Given the description of an element on the screen output the (x, y) to click on. 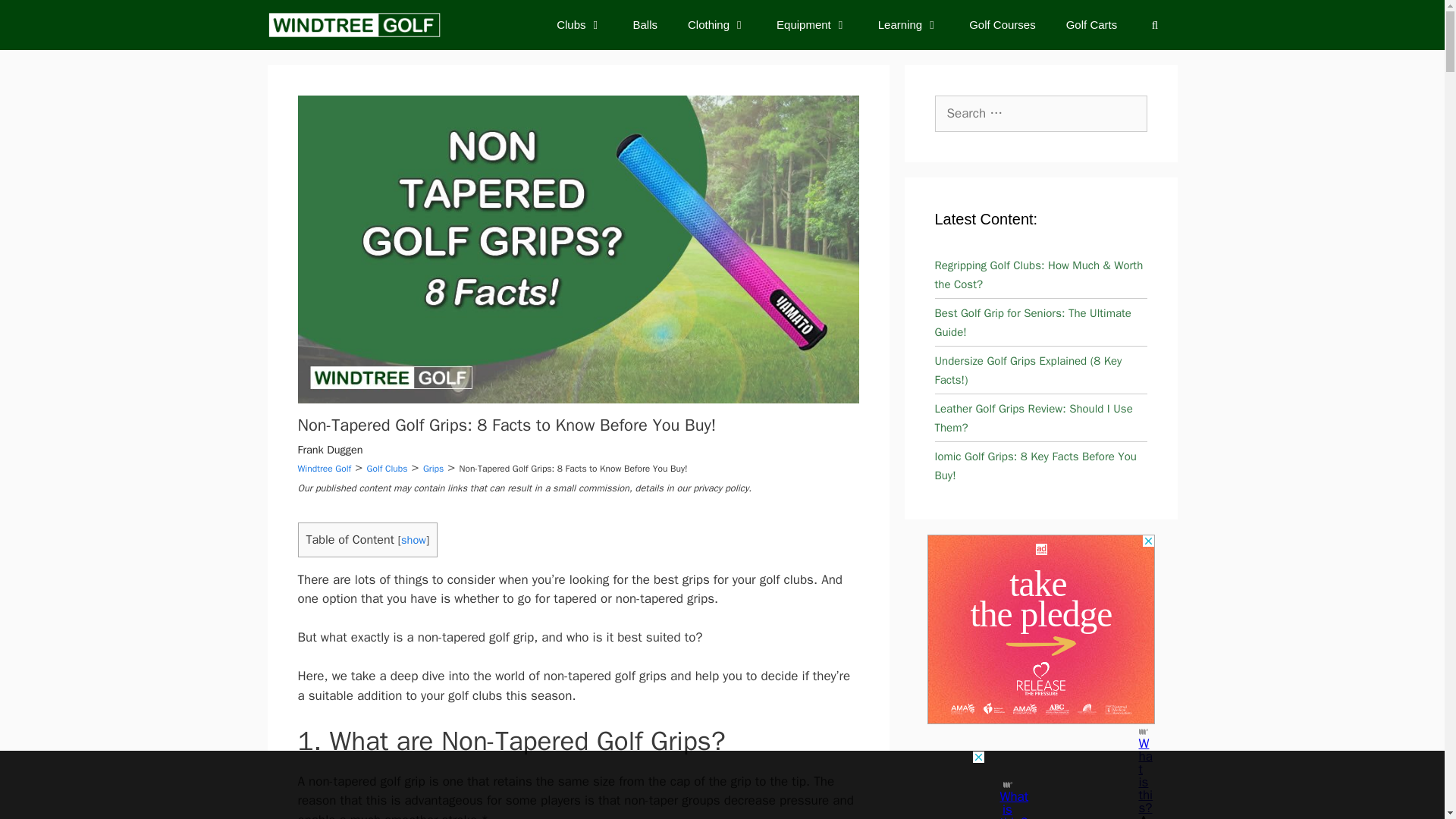
Golf Clubs (386, 468)
Balls (644, 24)
Learning (908, 24)
Golf Courses (1002, 24)
Iomic Golf Grips: 8 Key Facts Before You Buy! (1034, 465)
show (413, 540)
Grips (433, 468)
Clubs (579, 24)
Go to Windtree Golf. (323, 468)
Frank Duggen (329, 449)
Golf Carts (1091, 24)
Go to the Golf Clubs category archives. (386, 468)
Windtree Golf (323, 468)
Leather Golf Grips Review: Should I Use Them? (1033, 418)
Clothing (716, 24)
